Given the description of an element on the screen output the (x, y) to click on. 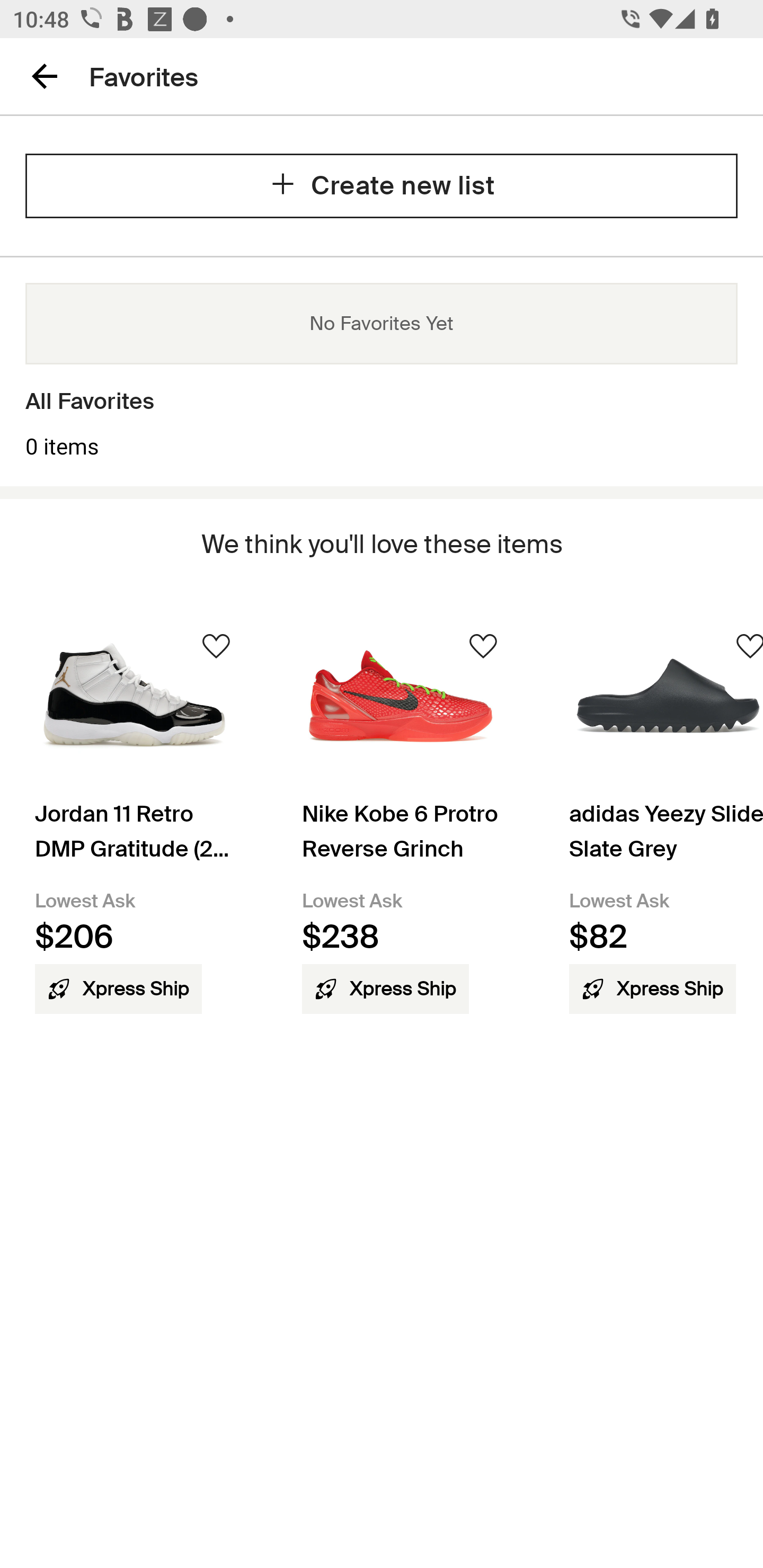
Create new list (381, 185)
No Favorites Yet All Favorites 0 items (381, 371)
